Given the description of an element on the screen output the (x, y) to click on. 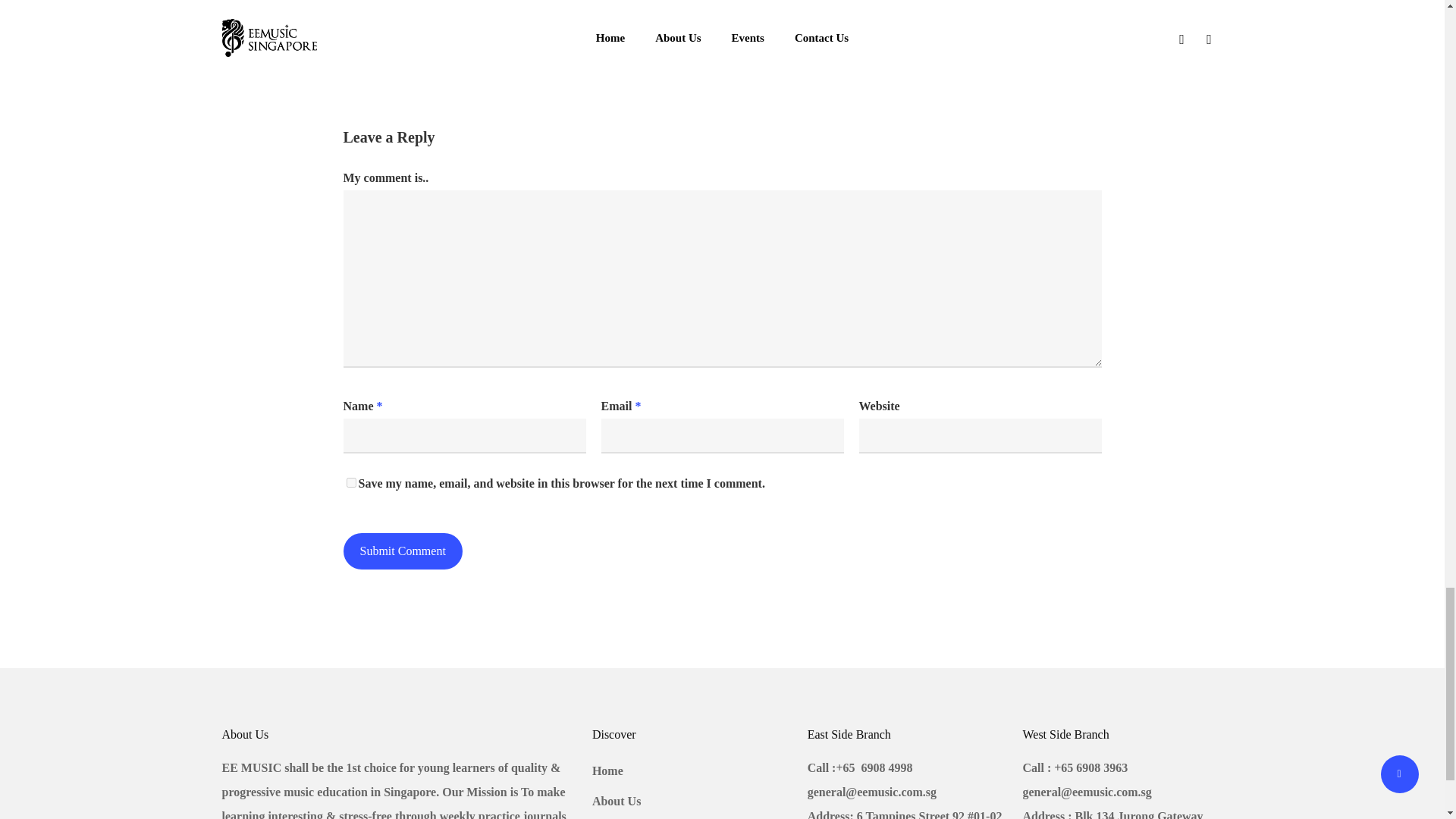
yes (350, 482)
Submit Comment (401, 551)
Submit Comment (401, 551)
Home (689, 770)
